Given the description of an element on the screen output the (x, y) to click on. 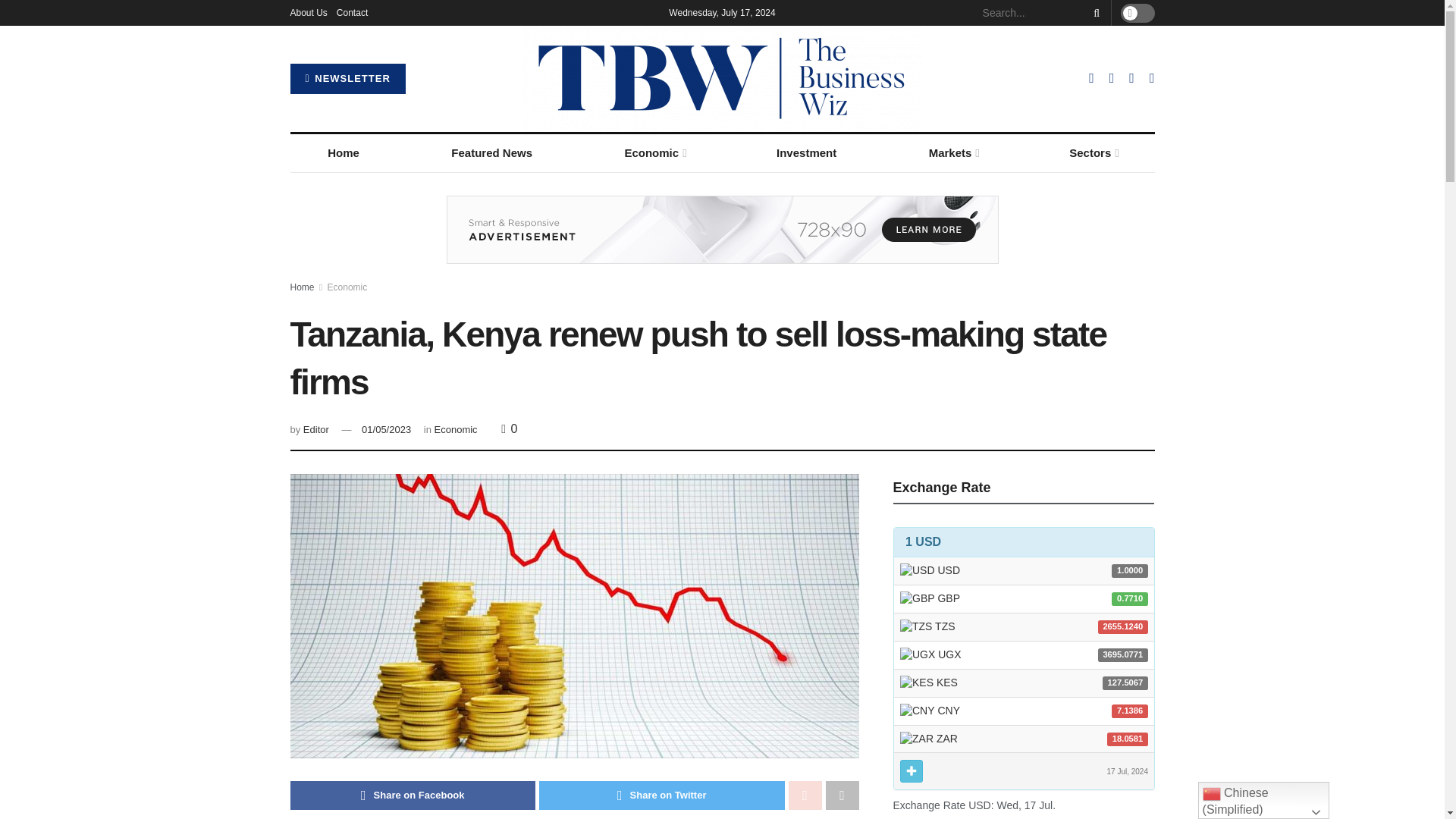
Home (342, 152)
NEWSLETTER (346, 78)
About Us (307, 12)
Sectors (1093, 152)
Markets (952, 152)
Contact (352, 12)
Economic (654, 152)
Exchange Rate: CurrencyRate.Today (1023, 659)
Investment (806, 152)
Featured News (491, 152)
